Given the description of an element on the screen output the (x, y) to click on. 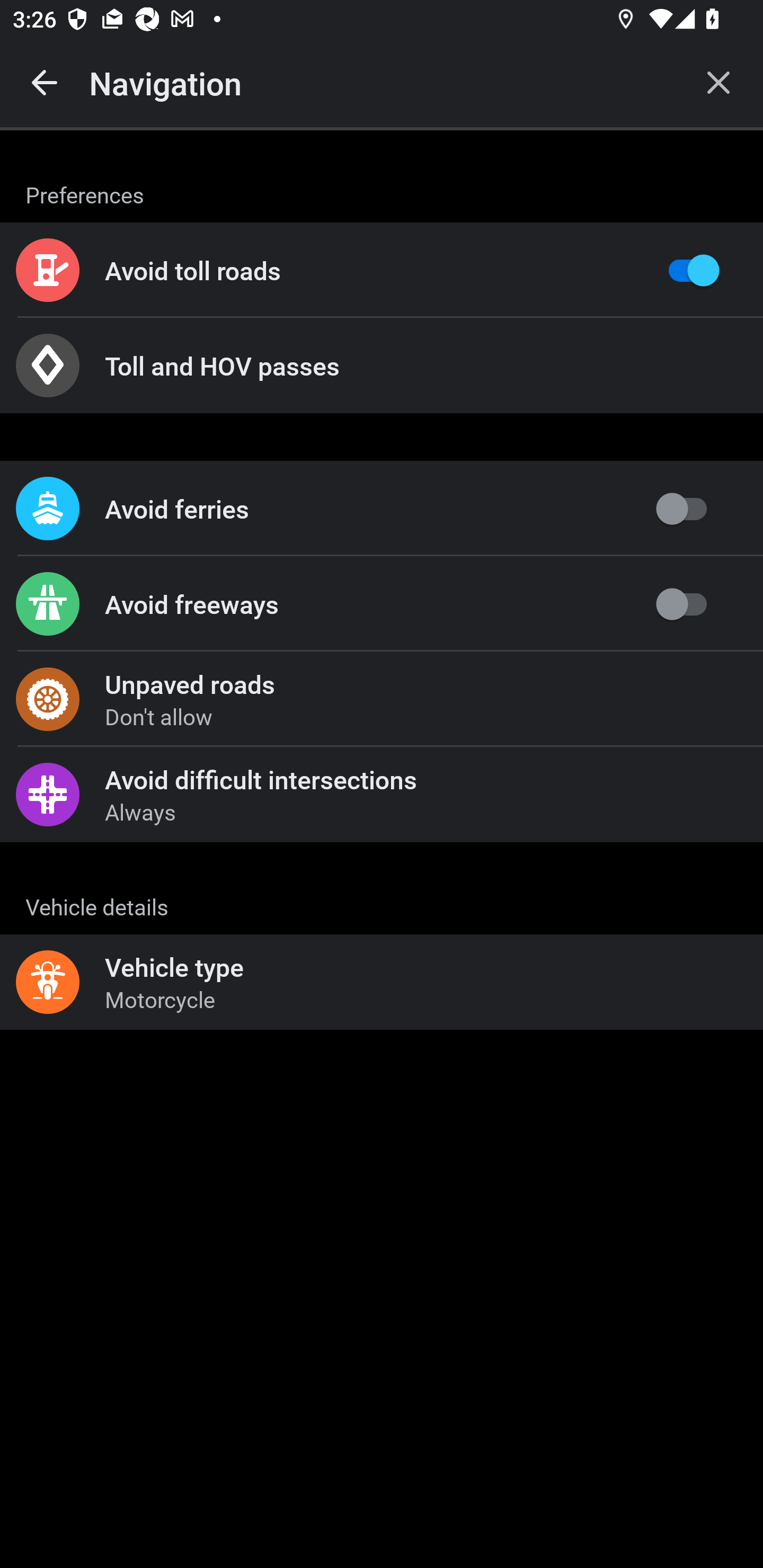
Avoid toll roads (381, 270)
Toll and HOV passes (381, 365)
Avoid ferries (381, 508)
Avoid freeways (381, 604)
Unpaved roads Don't allow (381, 699)
Avoid difficult intersections Always (381, 794)
ACTION_CELL_ICON Shut off ACTION_CELL_TEXT (381, 891)
Vehicle type Motorcycle (381, 982)
